Given the description of an element on the screen output the (x, y) to click on. 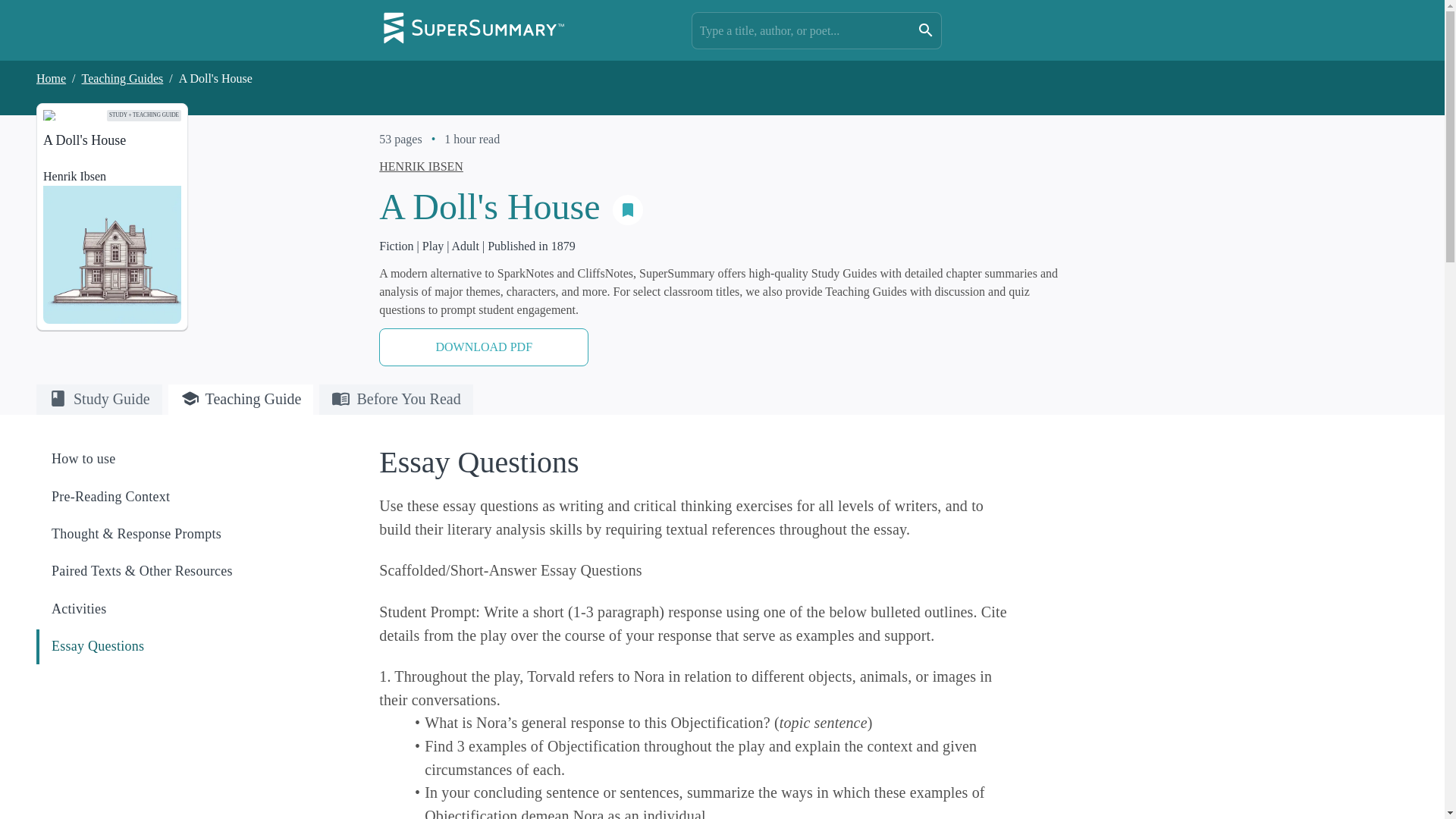
How to use (172, 458)
Pre-Reading Context (172, 496)
Activities (172, 609)
Study Guide (98, 402)
Teaching Guides (122, 78)
Teaching Guide (241, 399)
Teaching Guide (241, 402)
Before You Read (394, 402)
Activities (173, 609)
Go to homepage (472, 29)
